Given the description of an element on the screen output the (x, y) to click on. 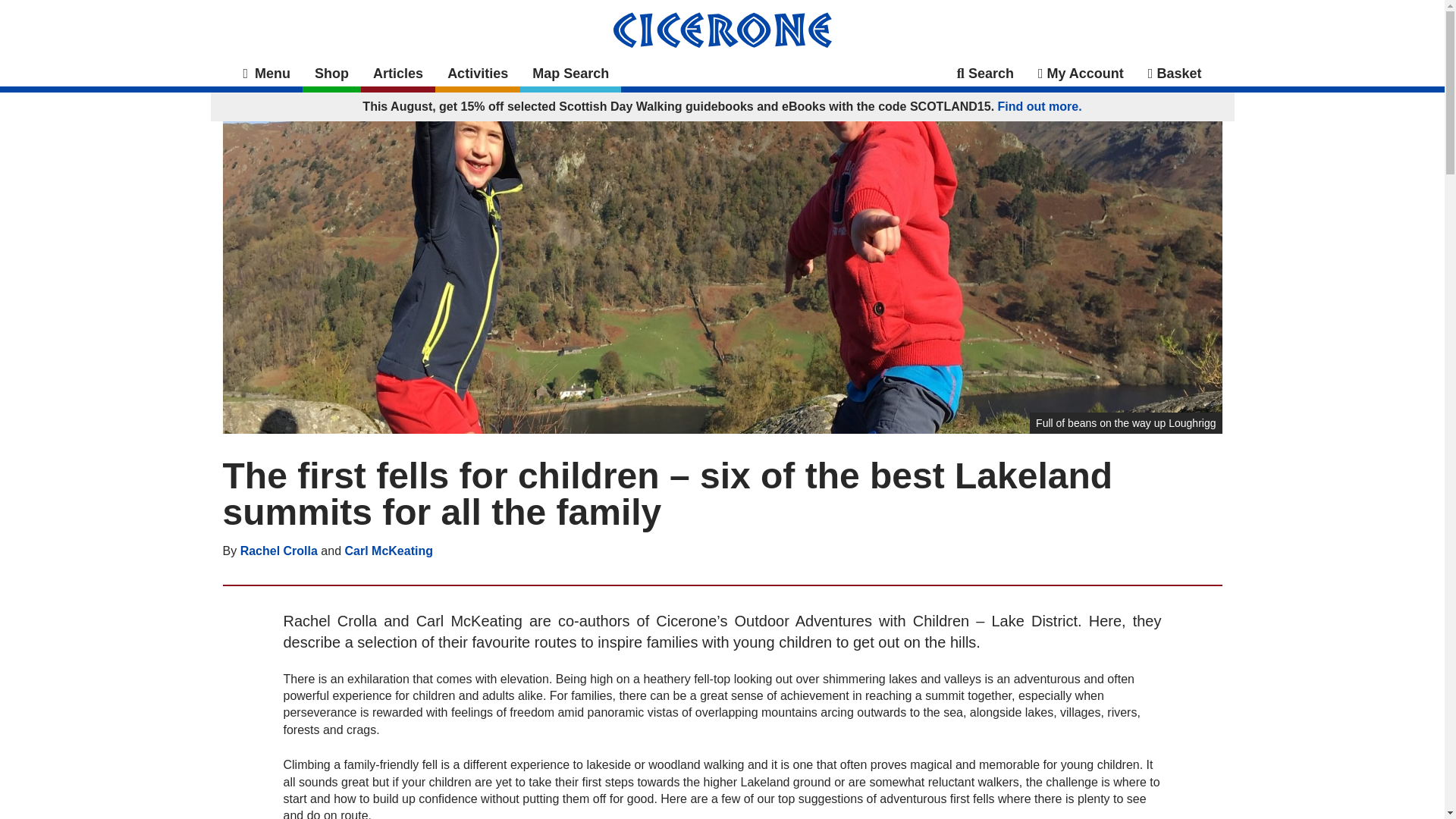
Rachel Crolla (278, 550)
Activities (477, 76)
Shop (331, 76)
Basket (1174, 73)
Map Search (570, 76)
My Account (1080, 73)
Articles (398, 76)
Carl McKeating (387, 550)
Cicerone Press (721, 29)
Cicerone Press (721, 30)
